Given the description of an element on the screen output the (x, y) to click on. 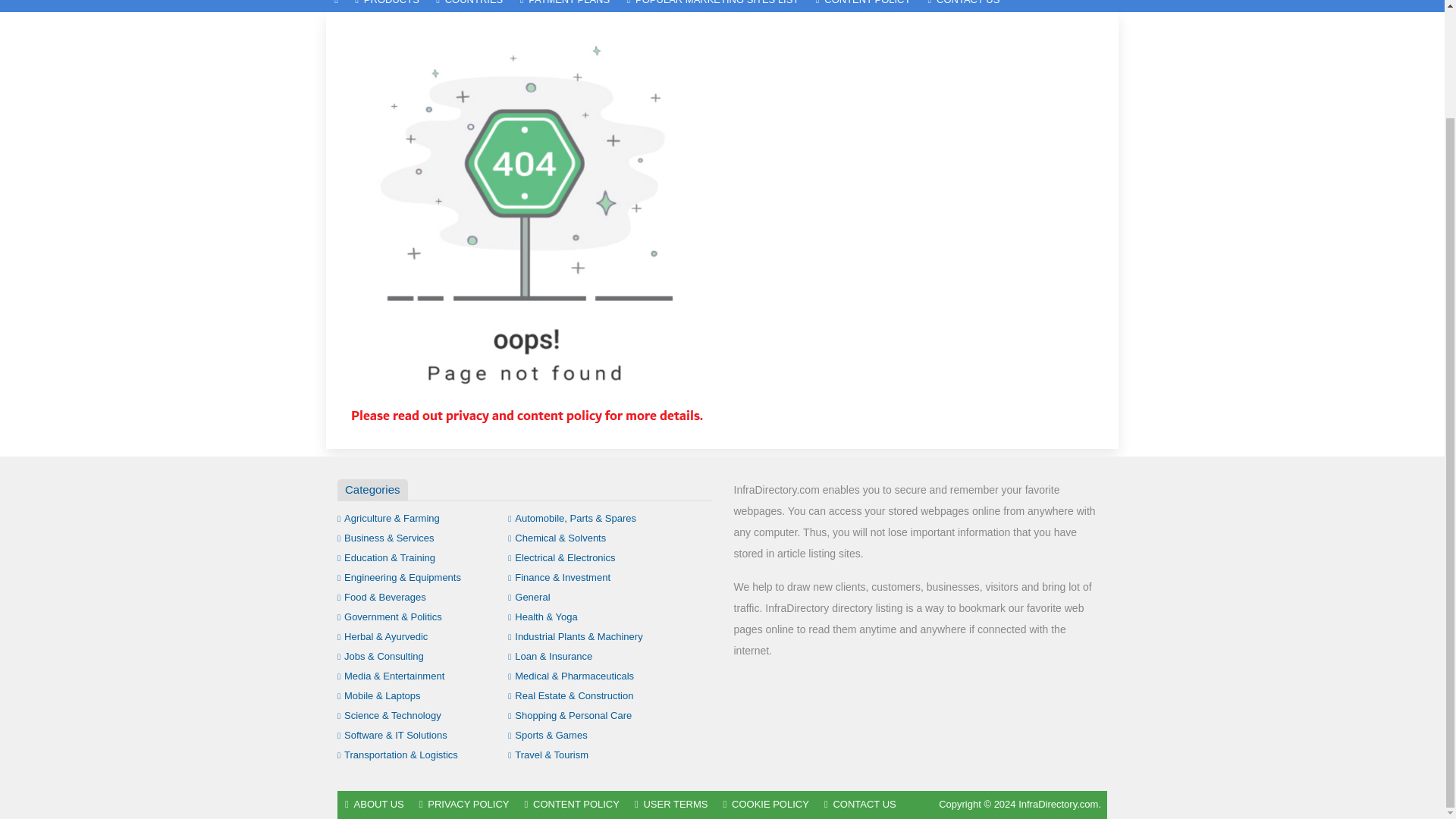
General (529, 596)
PAYMENT PLANS (564, 6)
PRODUCTS (387, 6)
HOME (336, 6)
CONTACT US (962, 6)
POPULAR MARKETING SITES LIST (711, 6)
CONTENT POLICY (864, 6)
COUNTRIES (469, 6)
